Given the description of an element on the screen output the (x, y) to click on. 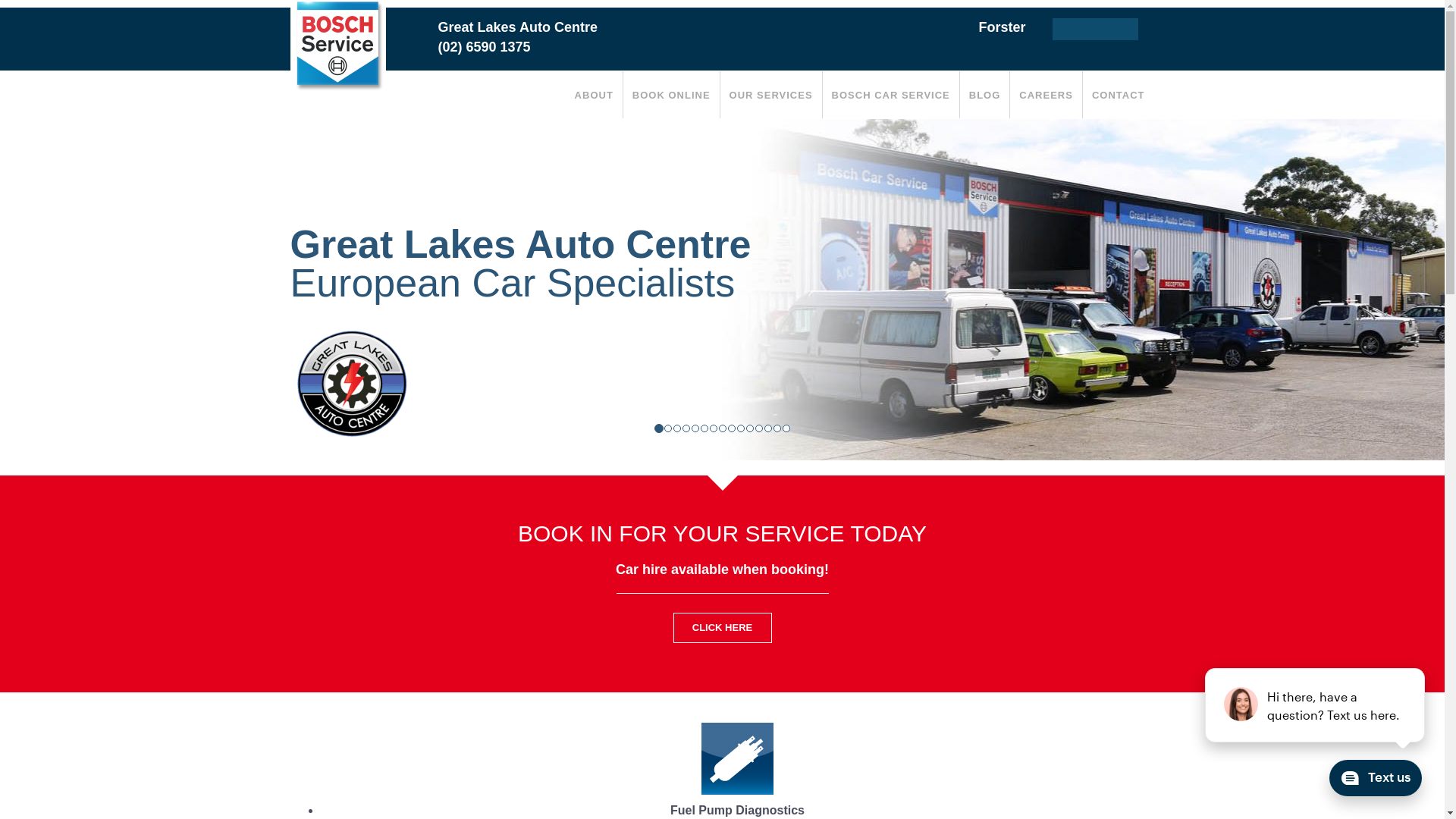
BOSCH CAR SERVICE Element type: text (890, 94)
OUR SERVICES Element type: text (771, 94)
ABOUT Element type: text (593, 94)
BLOG Element type: text (985, 94)
CLICK HERE Element type: text (722, 627)
(02) 6590 1375 Element type: text (484, 46)
Search for: Element type: hover (1095, 29)
CONTACT Element type: text (1118, 94)
BOOK ONLINE Element type: text (671, 94)
CAREERS Element type: text (1046, 94)
podium webchat widget prompt Element type: hover (1315, 705)
